Given the description of an element on the screen output the (x, y) to click on. 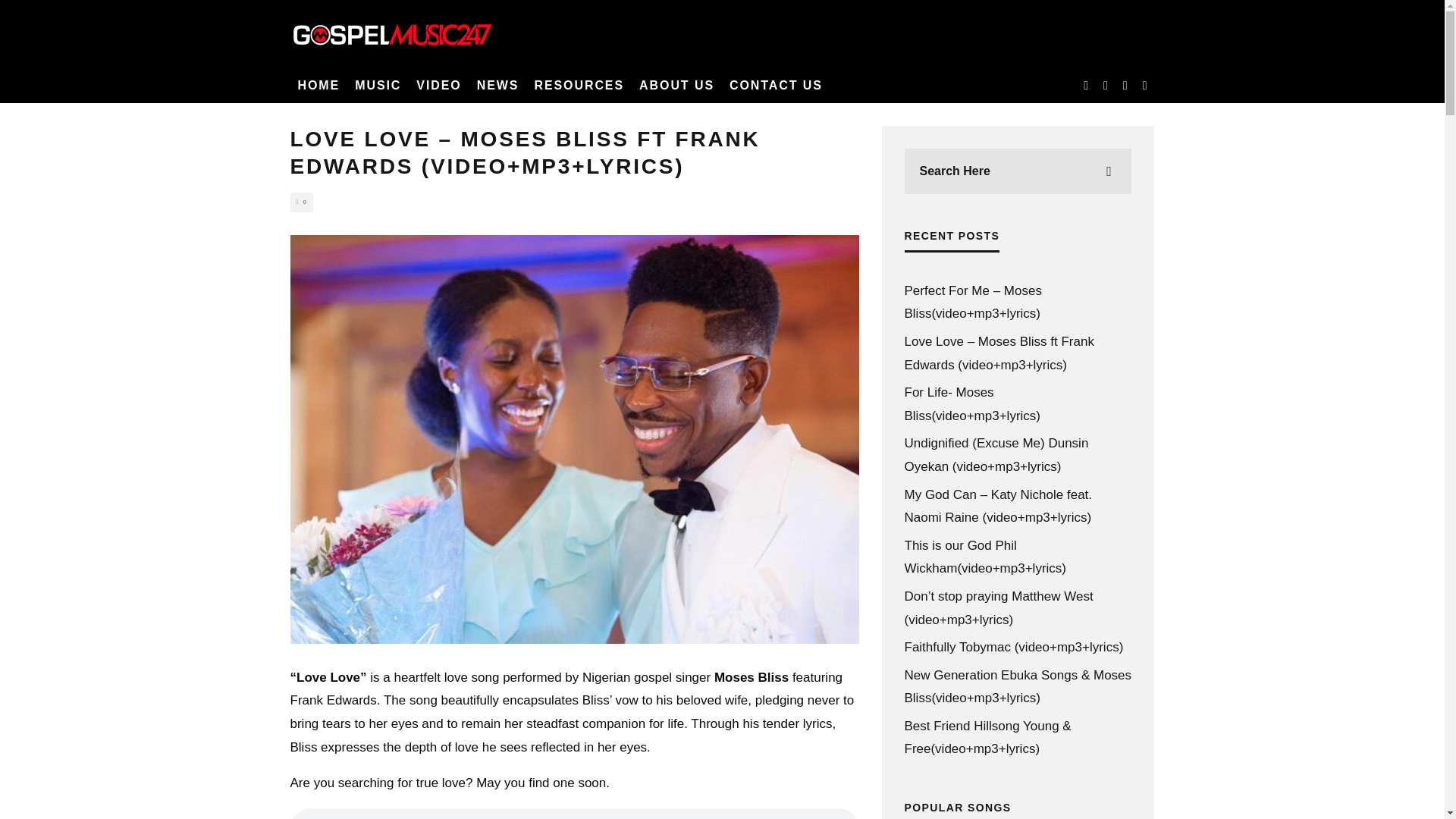
ABOUT US (676, 85)
RESOURCES (578, 85)
NEWS (497, 85)
HOME (318, 85)
MUSIC (378, 85)
CONTACT US (775, 85)
0 (301, 202)
VIDEO (438, 85)
